Given the description of an element on the screen output the (x, y) to click on. 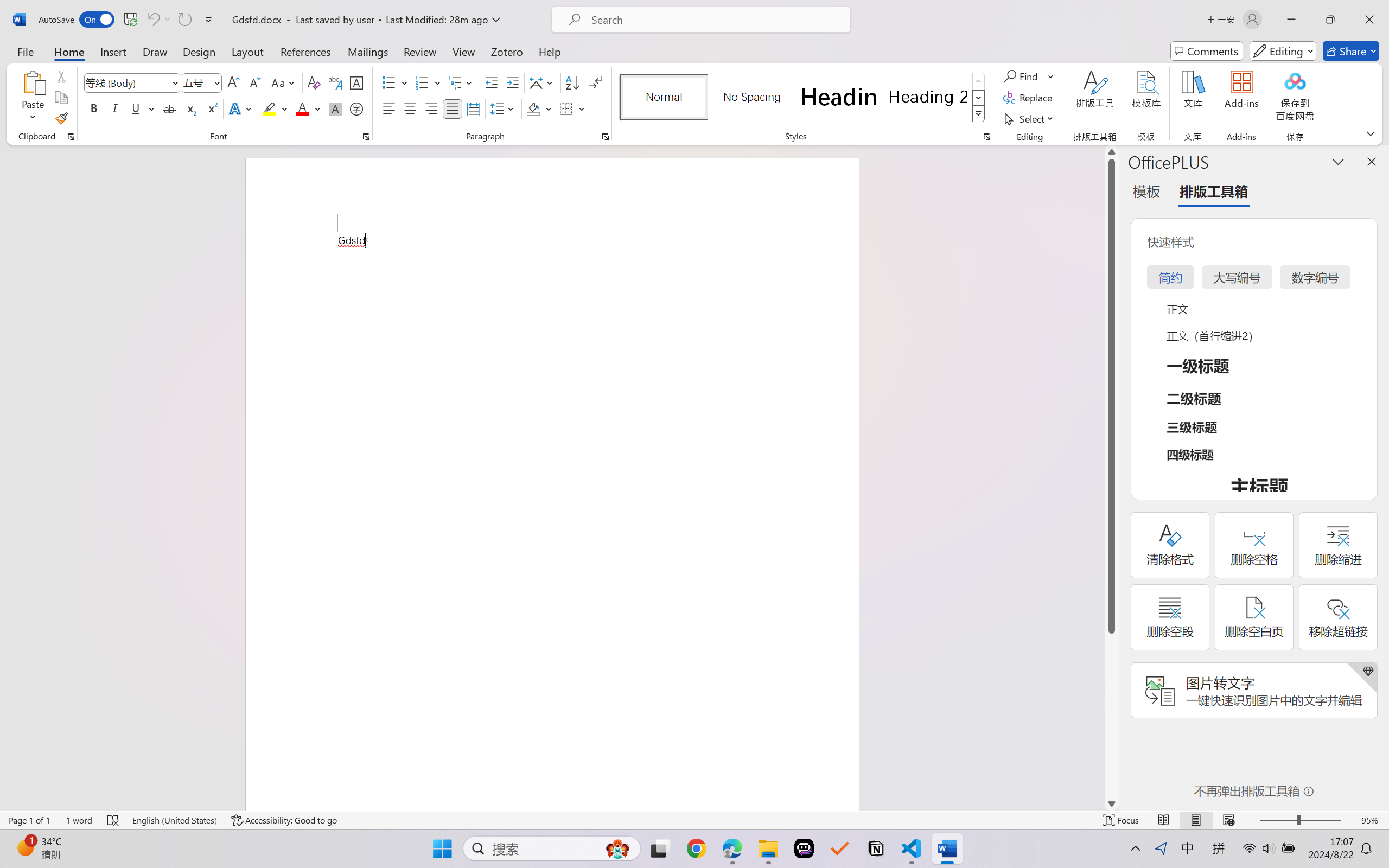
Can't Repeat (184, 19)
Can't Undo (158, 19)
Page 1 content (552, 521)
